Given the description of an element on the screen output the (x, y) to click on. 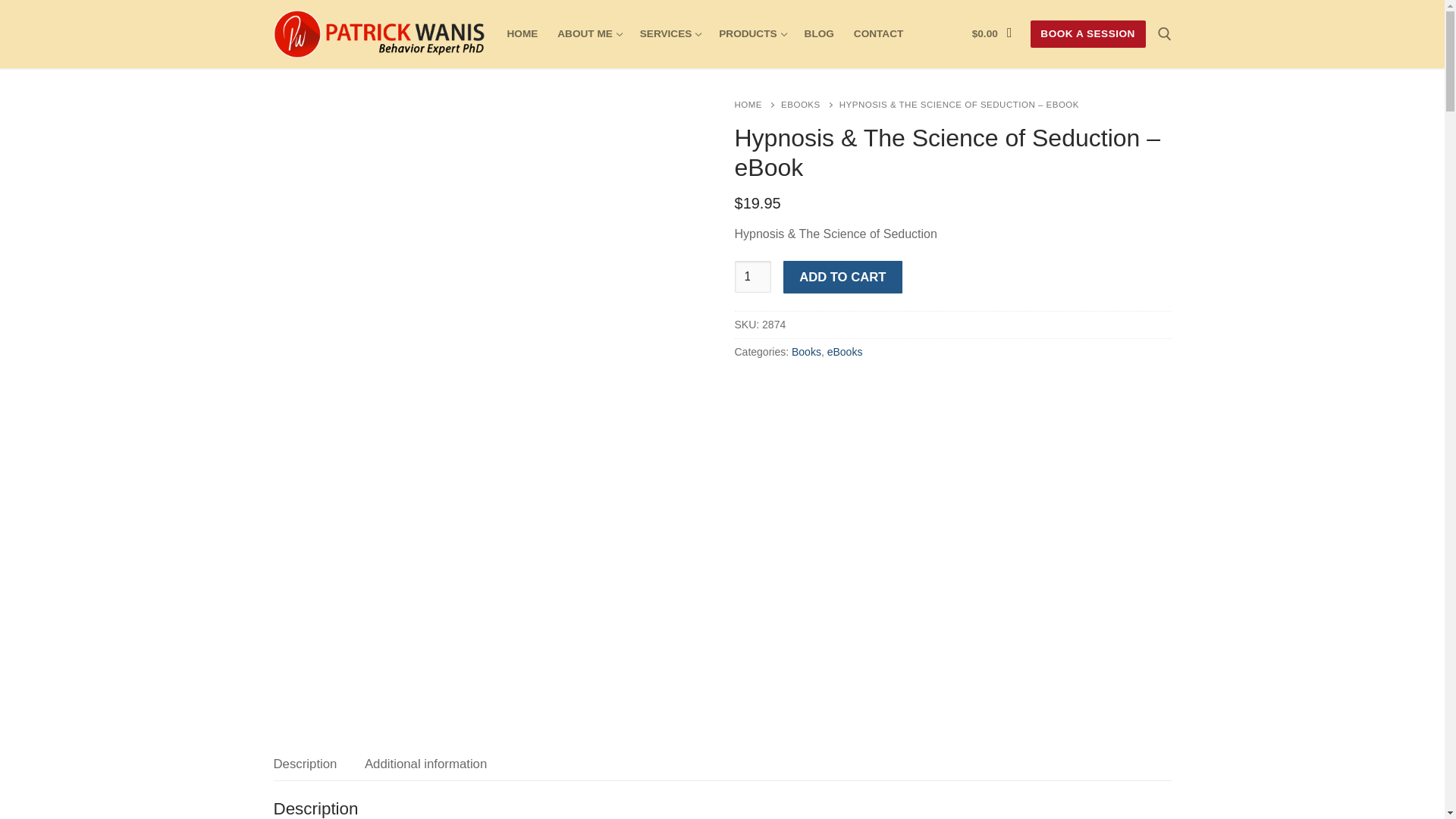
CONTACT (751, 33)
HOME (670, 33)
BOOK A SESSION (878, 33)
1 (522, 33)
BLOG (588, 33)
